Given the description of an element on the screen output the (x, y) to click on. 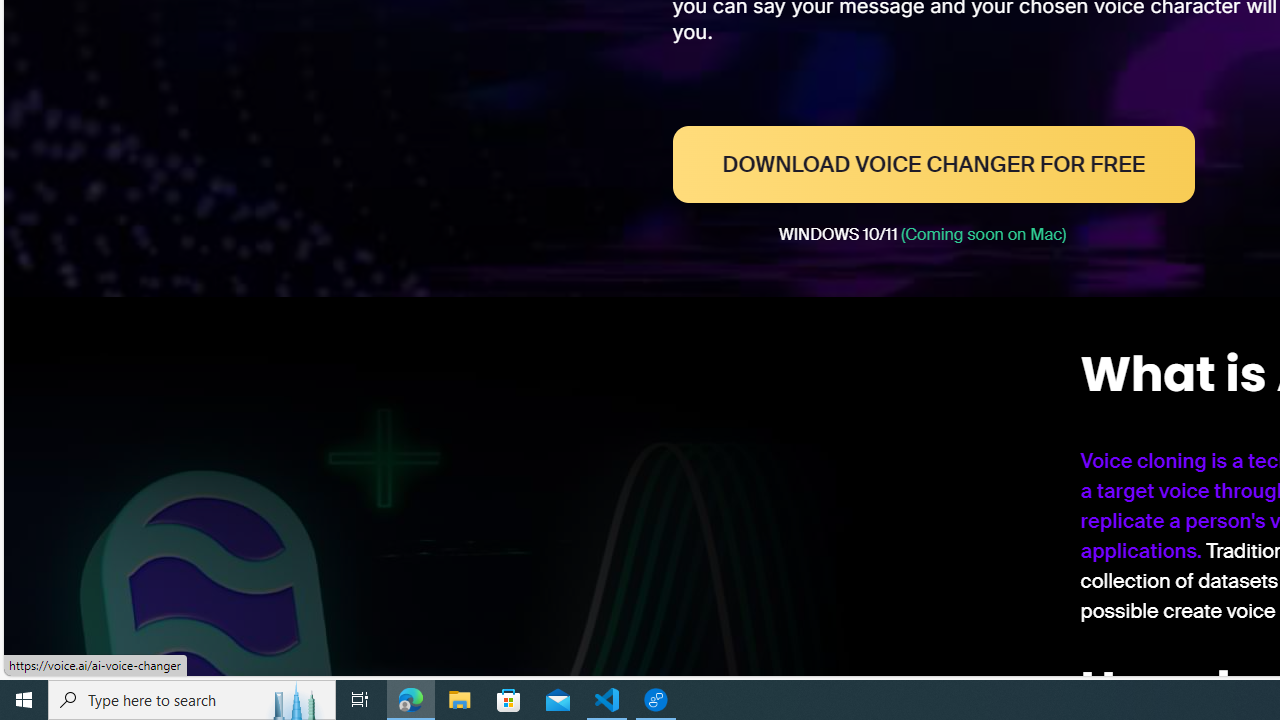
DOWNLOAD VOICE CHANGER FOR FREE (933, 164)
